Given the description of an element on the screen output the (x, y) to click on. 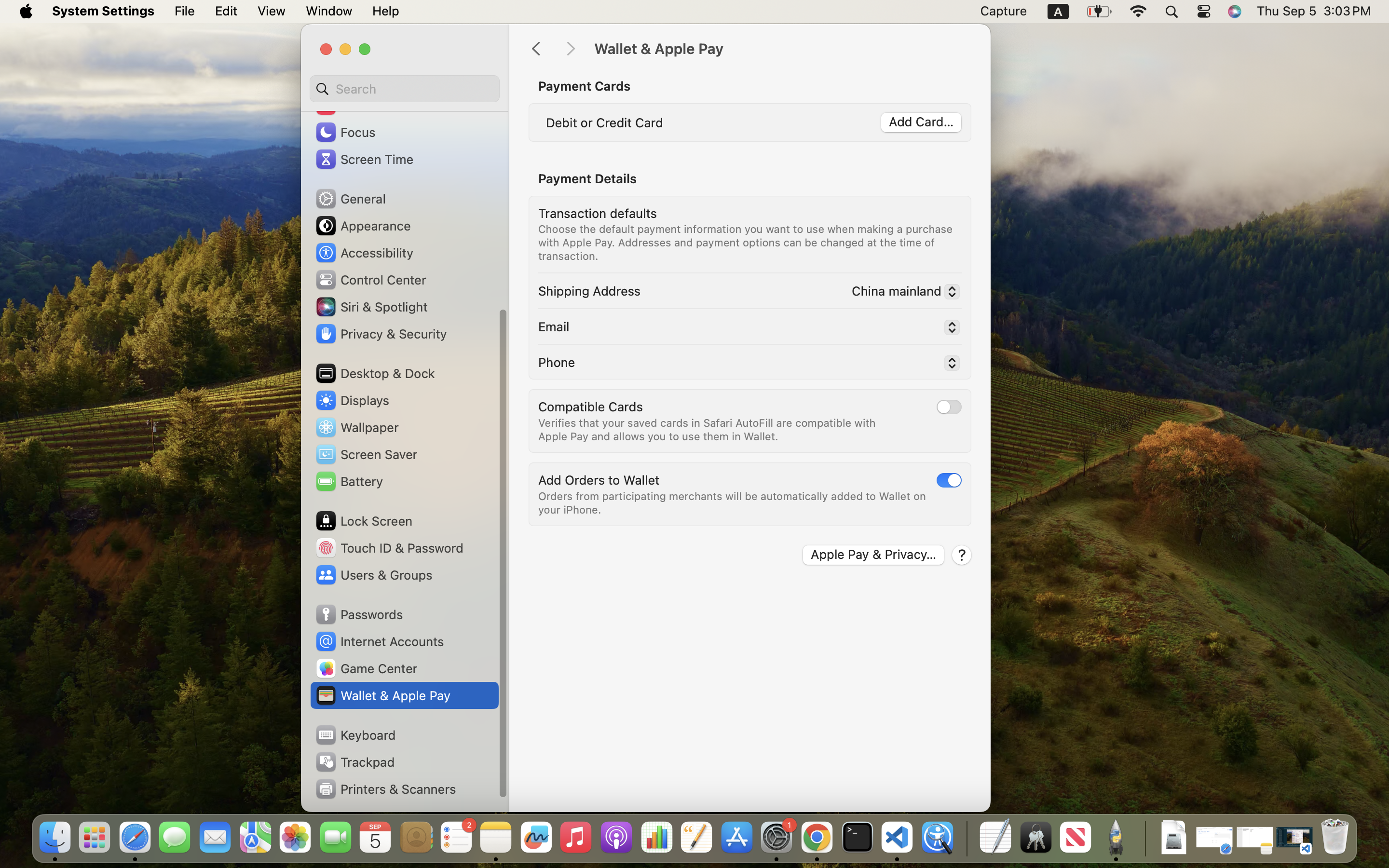
Desktop & Dock Element type: AXStaticText (374, 372)
Transaction defaults Element type: AXStaticText (597, 212)
Keyboard Element type: AXStaticText (354, 734)
Siri & Spotlight Element type: AXStaticText (370, 306)
Displays Element type: AXStaticText (351, 399)
